Given the description of an element on the screen output the (x, y) to click on. 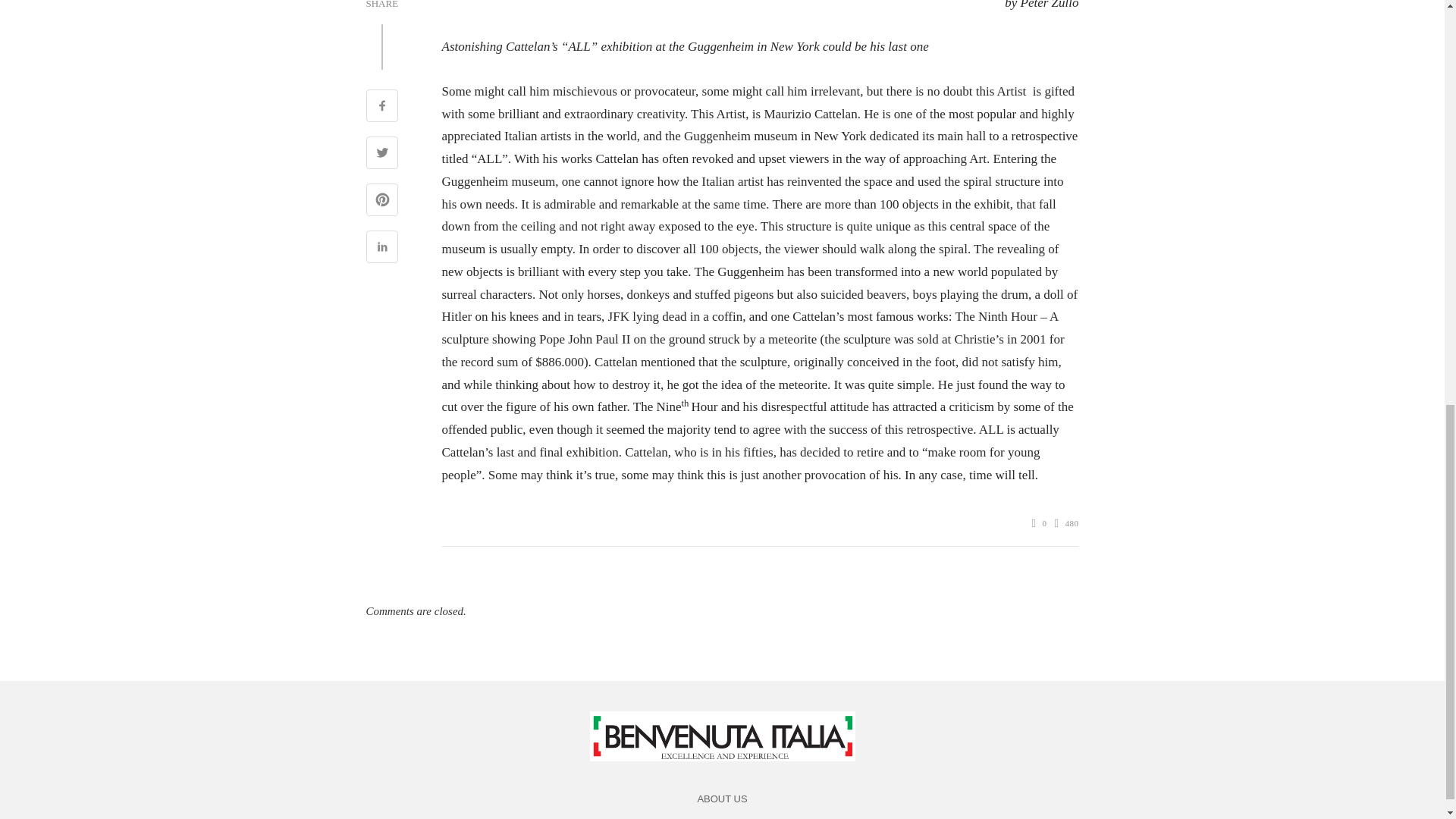
0 (1039, 523)
ABOUT US (721, 799)
Share on Twitter (381, 154)
Share on Pinterest (381, 201)
Share on Facebook (381, 107)
Share on Linkedin (381, 248)
480 (1066, 523)
